Given the description of an element on the screen output the (x, y) to click on. 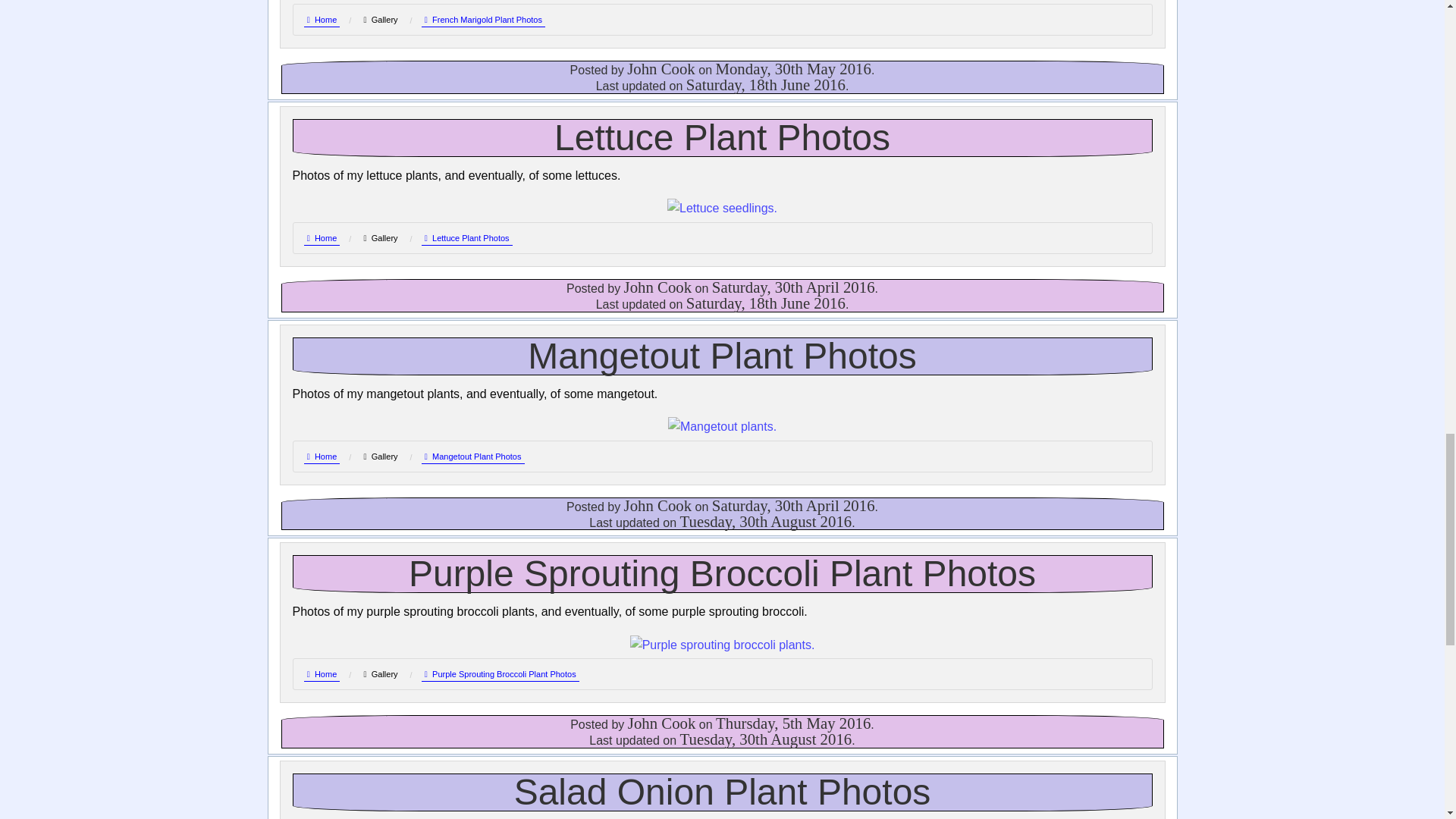
Purple Sprouting Broccoli Plant Photos (722, 573)
Gallery (379, 237)
Home (320, 20)
Gallery (379, 673)
Home (320, 237)
Home (320, 674)
Home (320, 456)
Lettuce Plant Photos (467, 237)
Salad Onion Plant Photos (722, 792)
Gallery (379, 456)
